Given the description of an element on the screen output the (x, y) to click on. 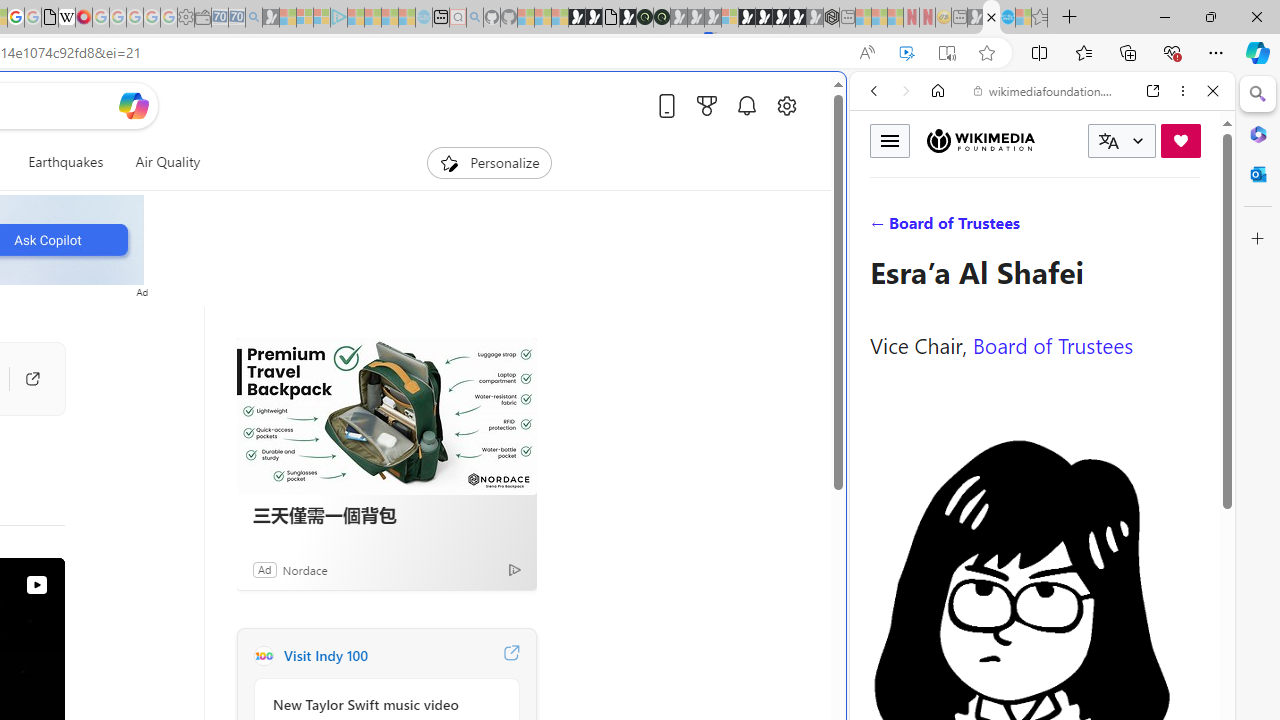
Target page - Wikipedia (66, 17)
google_privacy_policy_zh-CN.pdf (49, 17)
github - Search - Sleeping (474, 17)
Services - Maintenance | Sky Blue Bikes - Sky Blue Bikes (1007, 17)
